Given the description of an element on the screen output the (x, y) to click on. 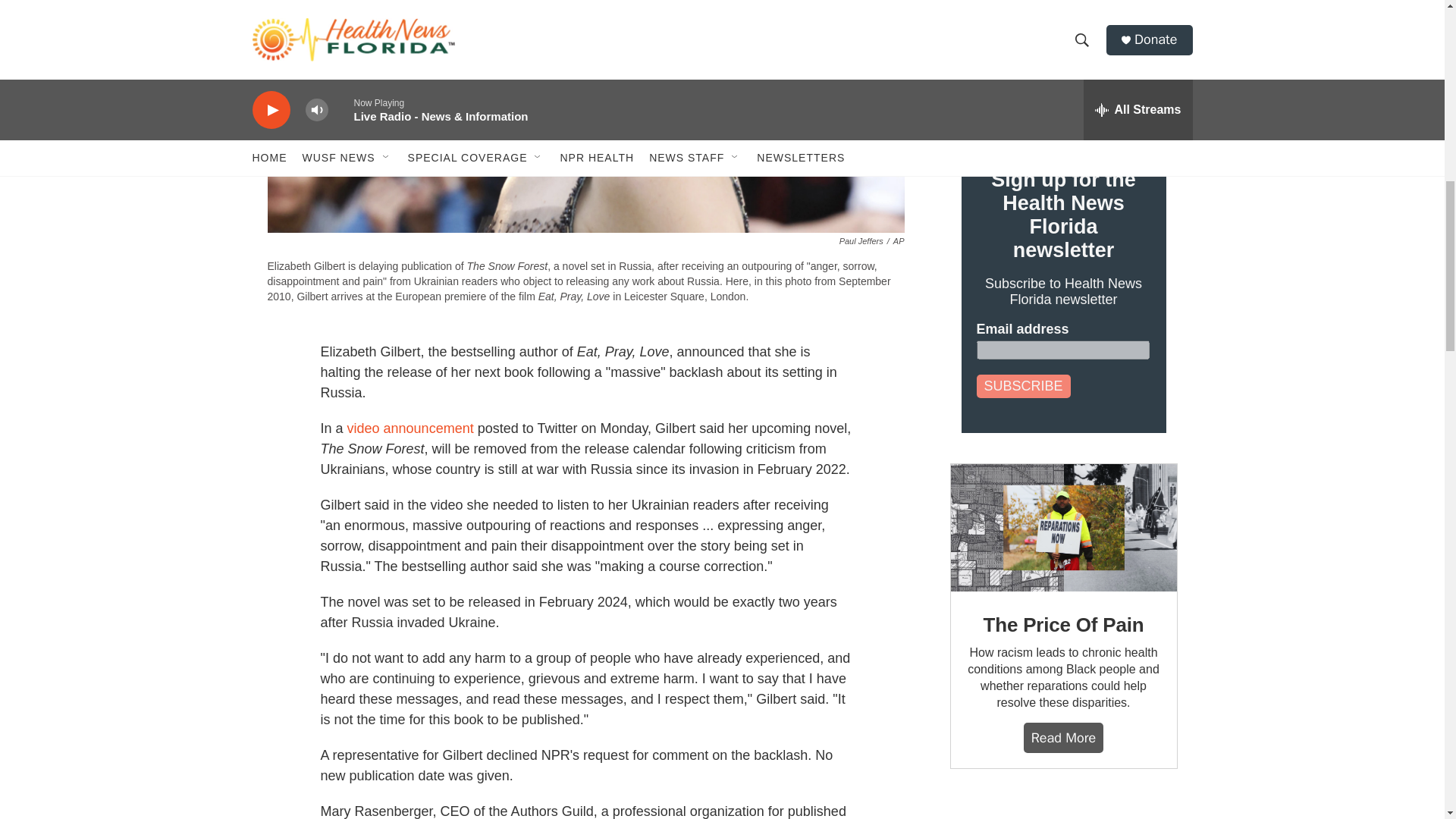
3rd party ad content (1062, 809)
